Given the description of an element on the screen output the (x, y) to click on. 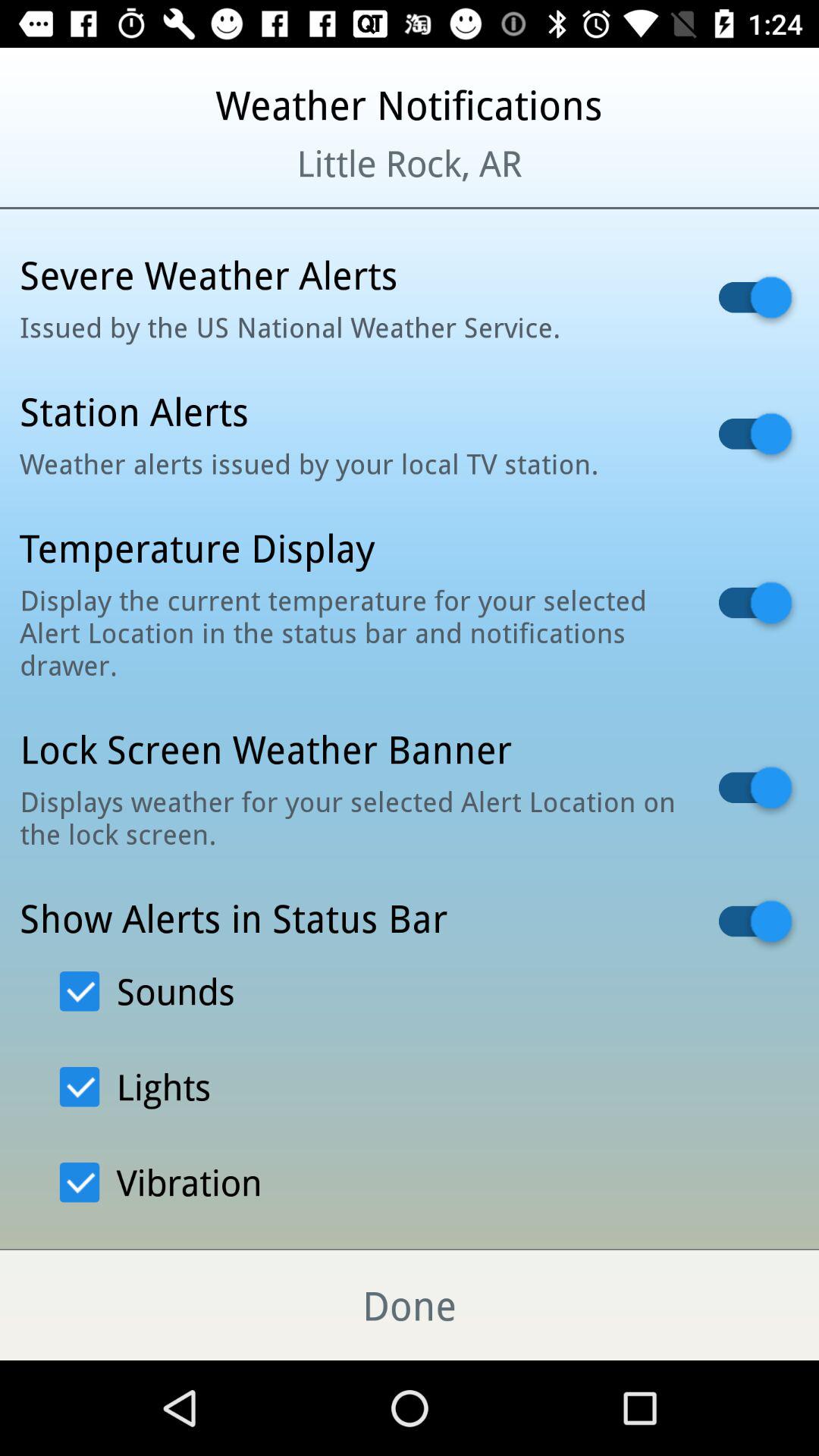
tap the item to the left of little rock, ar (99, 182)
